Given the description of an element on the screen output the (x, y) to click on. 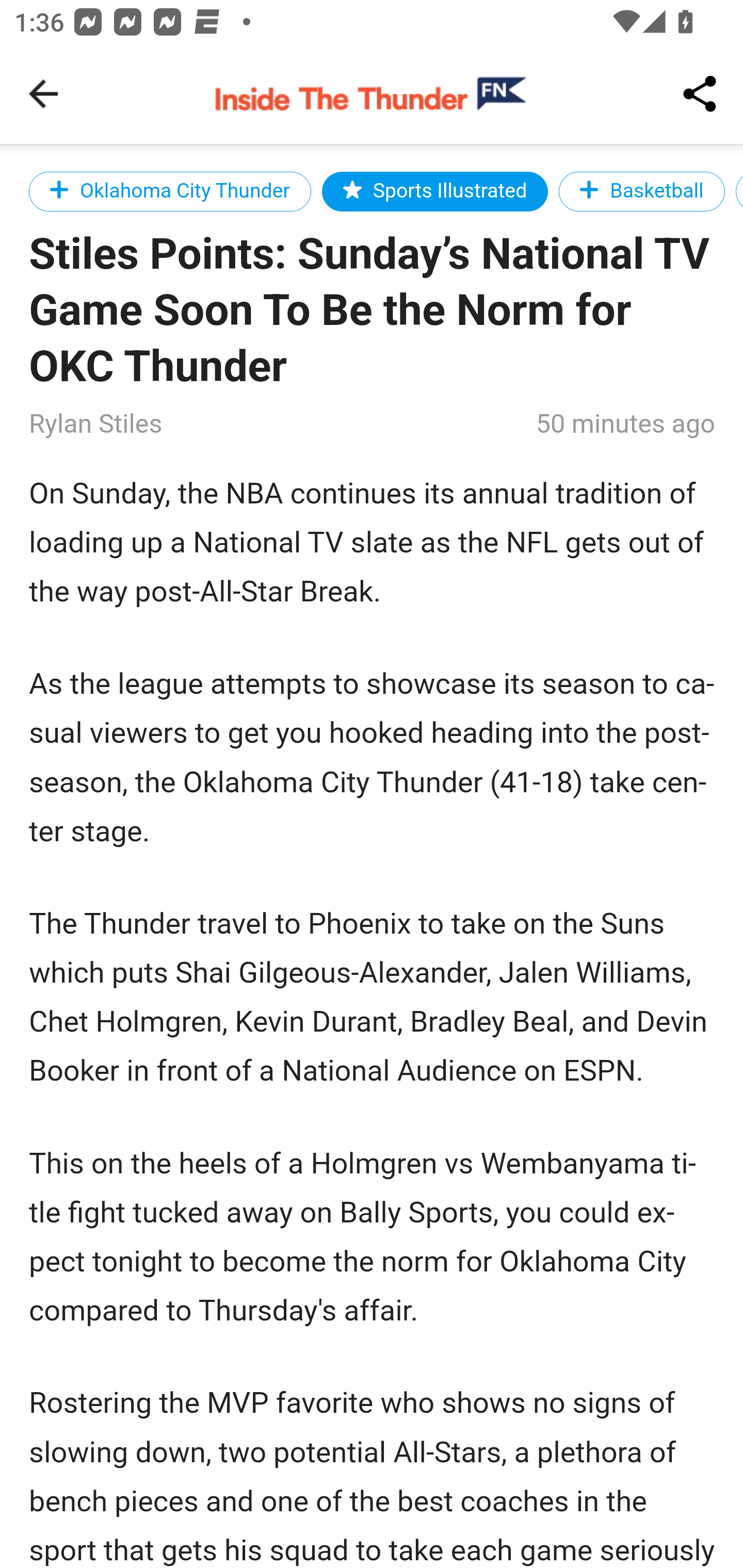
Oklahoma City Thunder (170, 191)
Sports Illustrated (435, 191)
Basketball (641, 191)
